Given the description of an element on the screen output the (x, y) to click on. 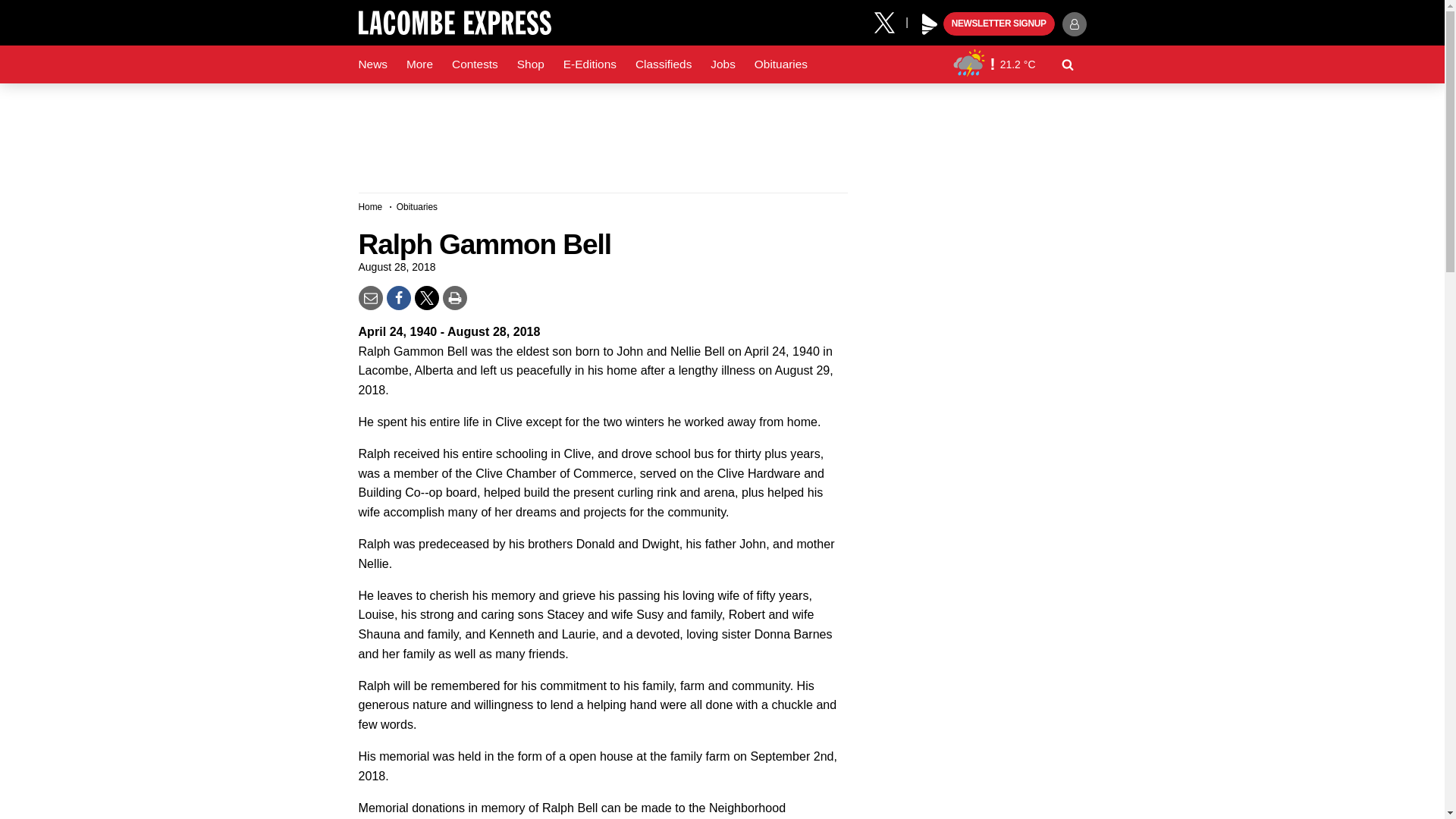
News (372, 64)
X (889, 21)
NEWSLETTER SIGNUP (998, 24)
Black Press Media (929, 24)
Play (929, 24)
